Given the description of an element on the screen output the (x, y) to click on. 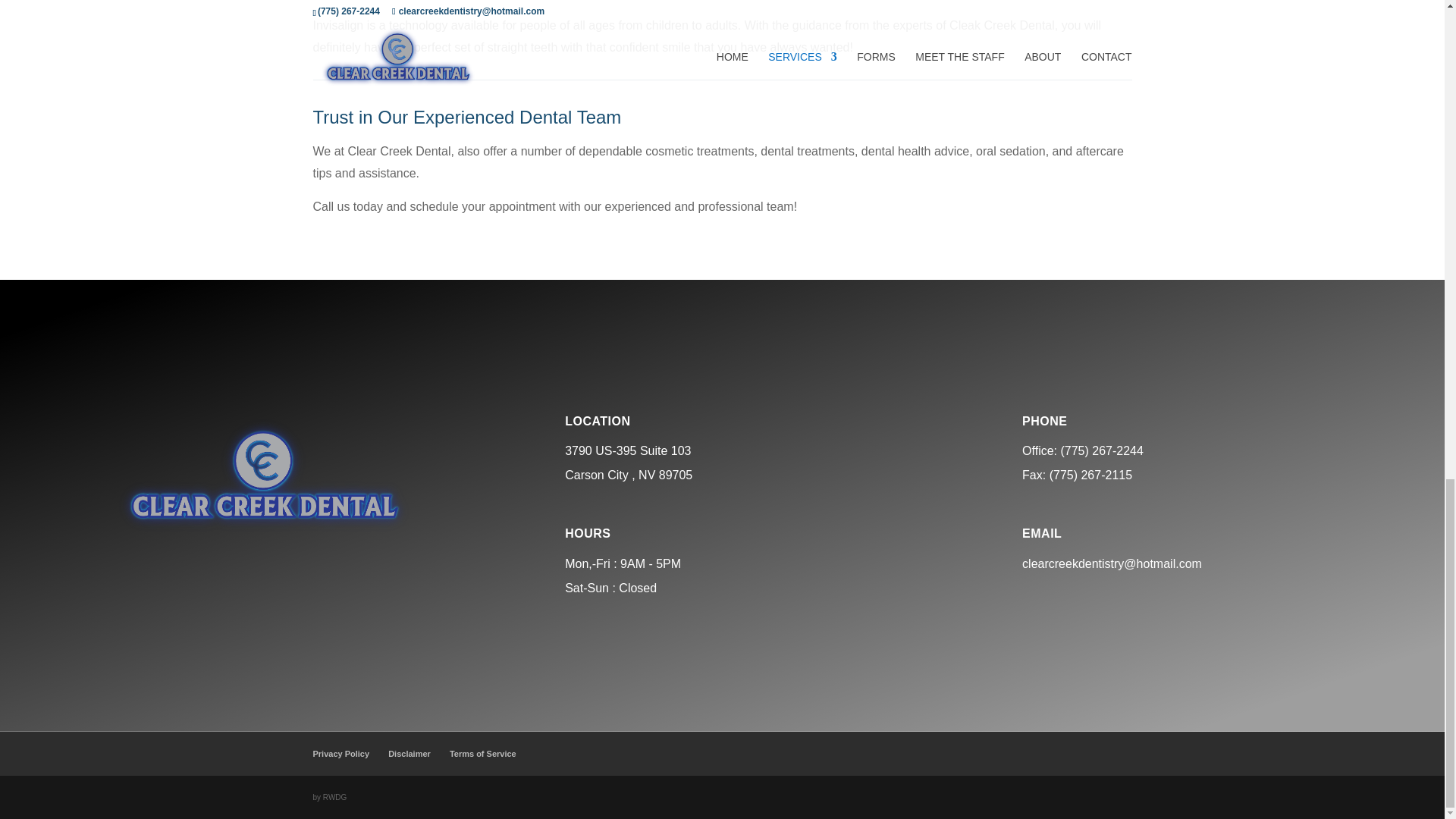
Terms of Service (482, 753)
Disclaimer (409, 753)
dentist (264, 474)
Privacy Policy (341, 753)
